Given the description of an element on the screen output the (x, y) to click on. 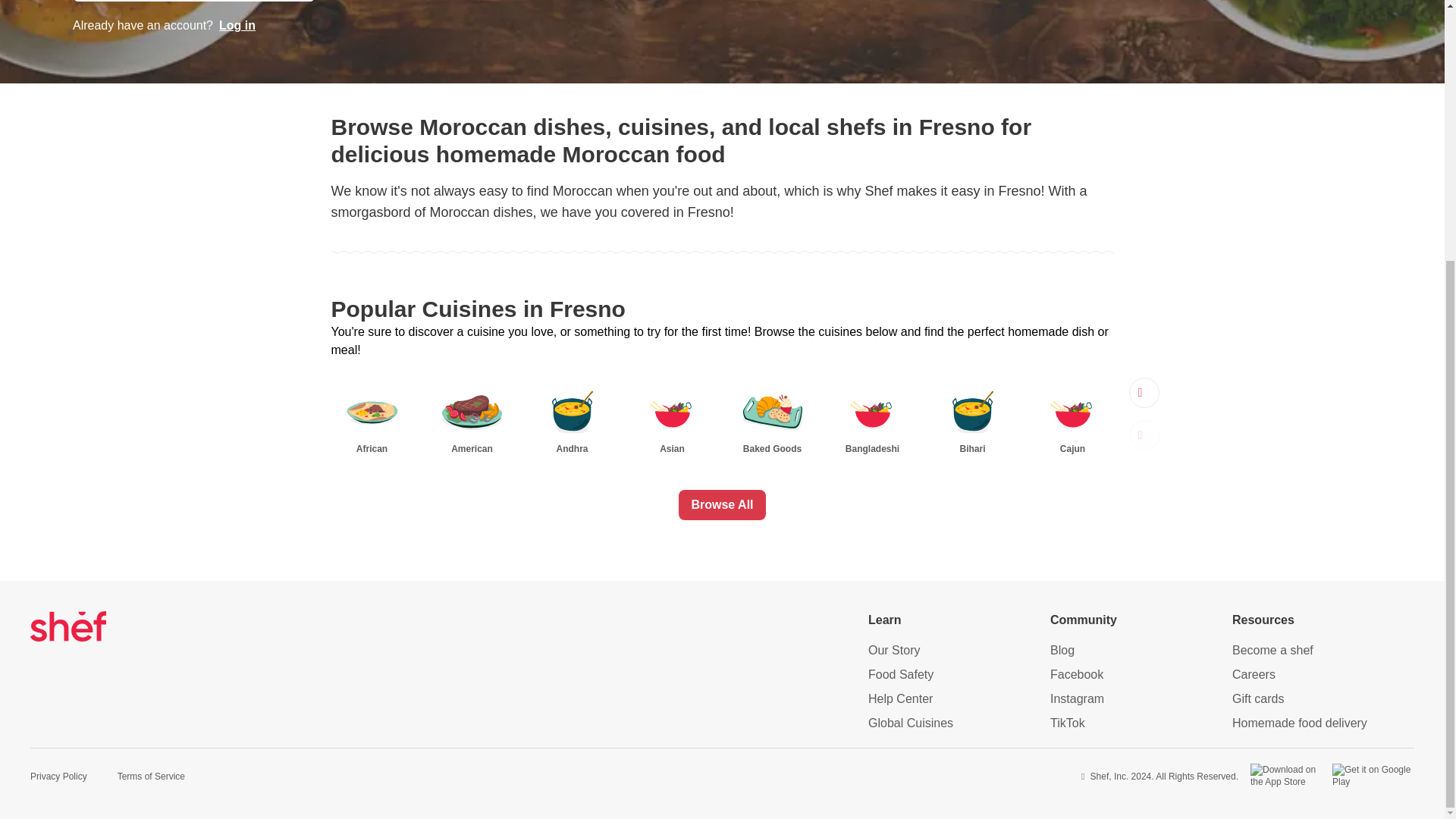
American (471, 418)
African (371, 418)
Log in (237, 25)
Bihari (972, 418)
Andhra (571, 418)
Cajun (1071, 418)
Baked Goods (771, 418)
Bangladeshi (871, 418)
Asian (671, 418)
